Given the description of an element on the screen output the (x, y) to click on. 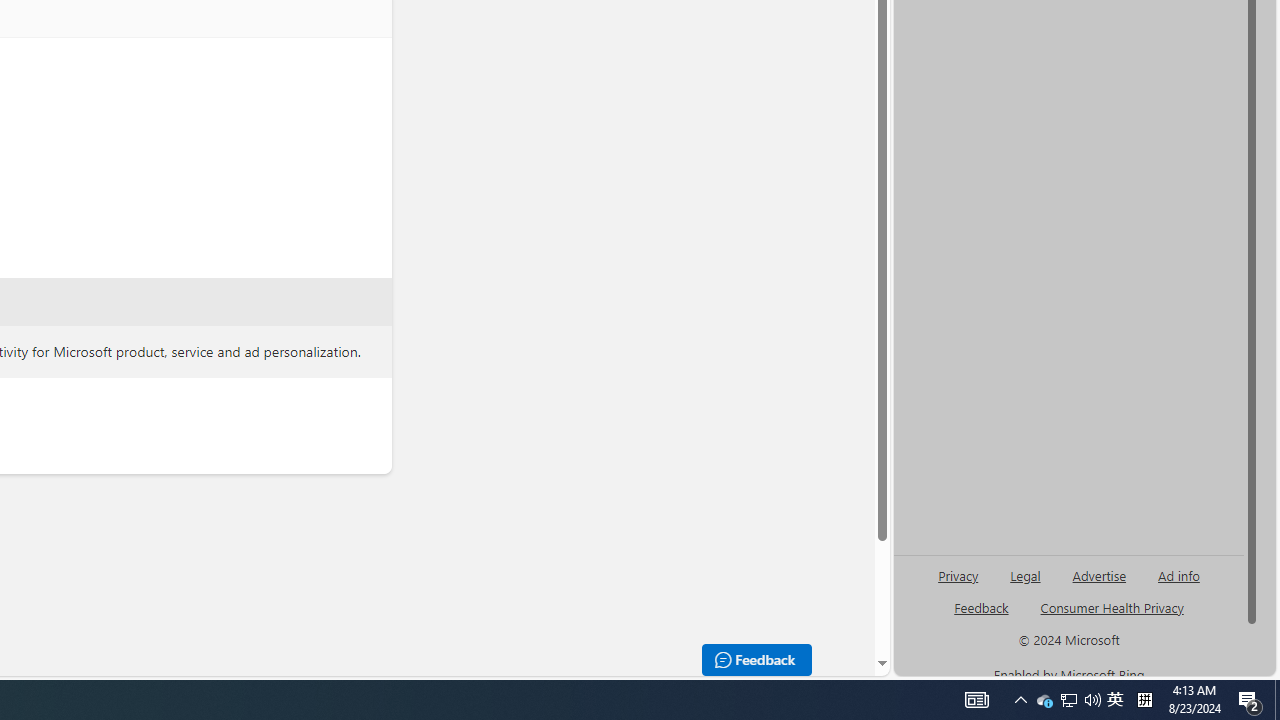
AutomationID: genId96 (981, 615)
AutomationID: sb_feedback (980, 607)
